Given the description of an element on the screen output the (x, y) to click on. 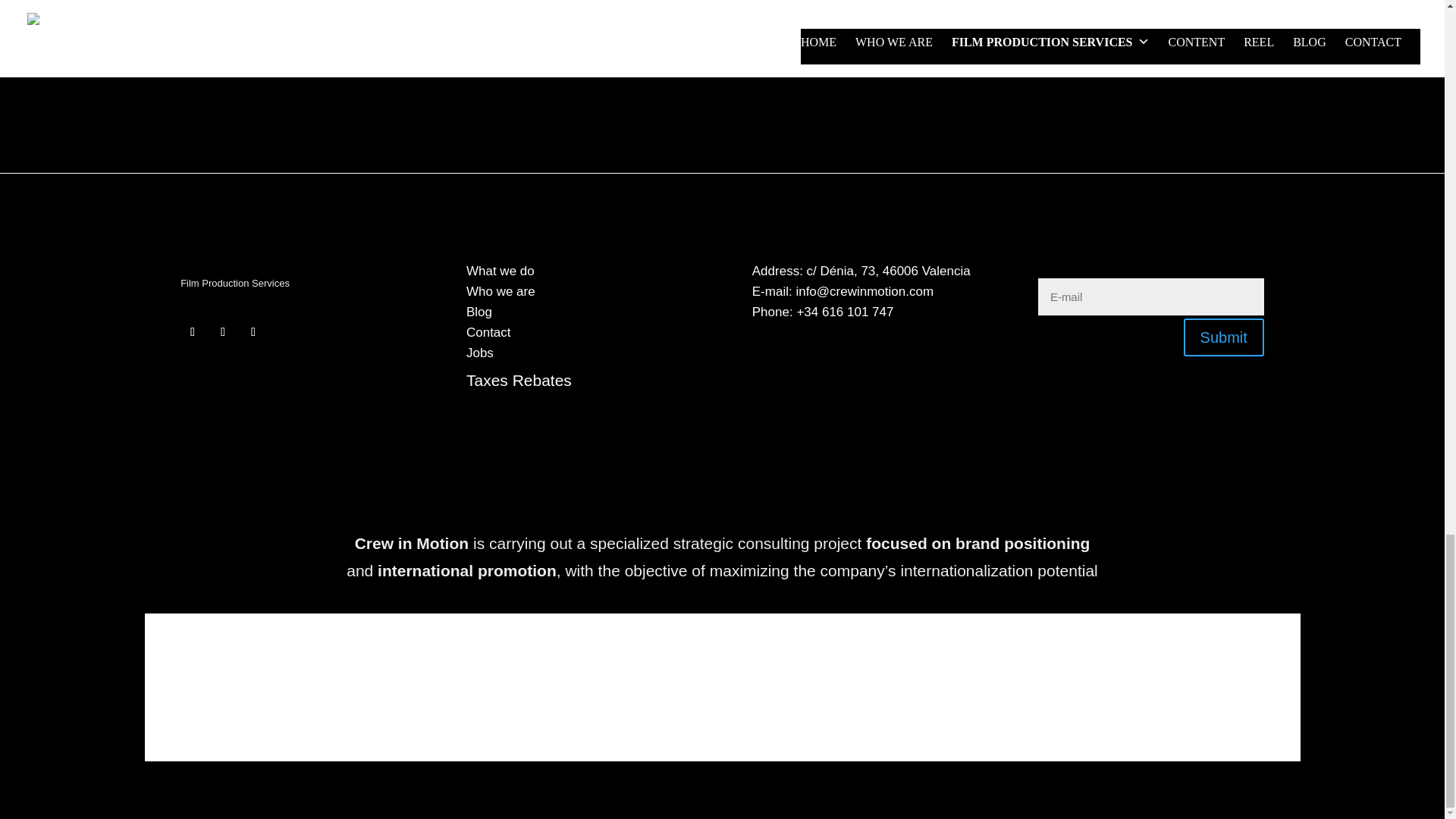
Follow on Instagram (222, 331)
Follow on Facebook (192, 331)
LOGO CREW (270, 252)
LOGOS crew in motion-09 (722, 474)
Follow on LinkedIn (252, 331)
valenciana (721, 687)
Europe (234, 687)
